Given the description of an element on the screen output the (x, y) to click on. 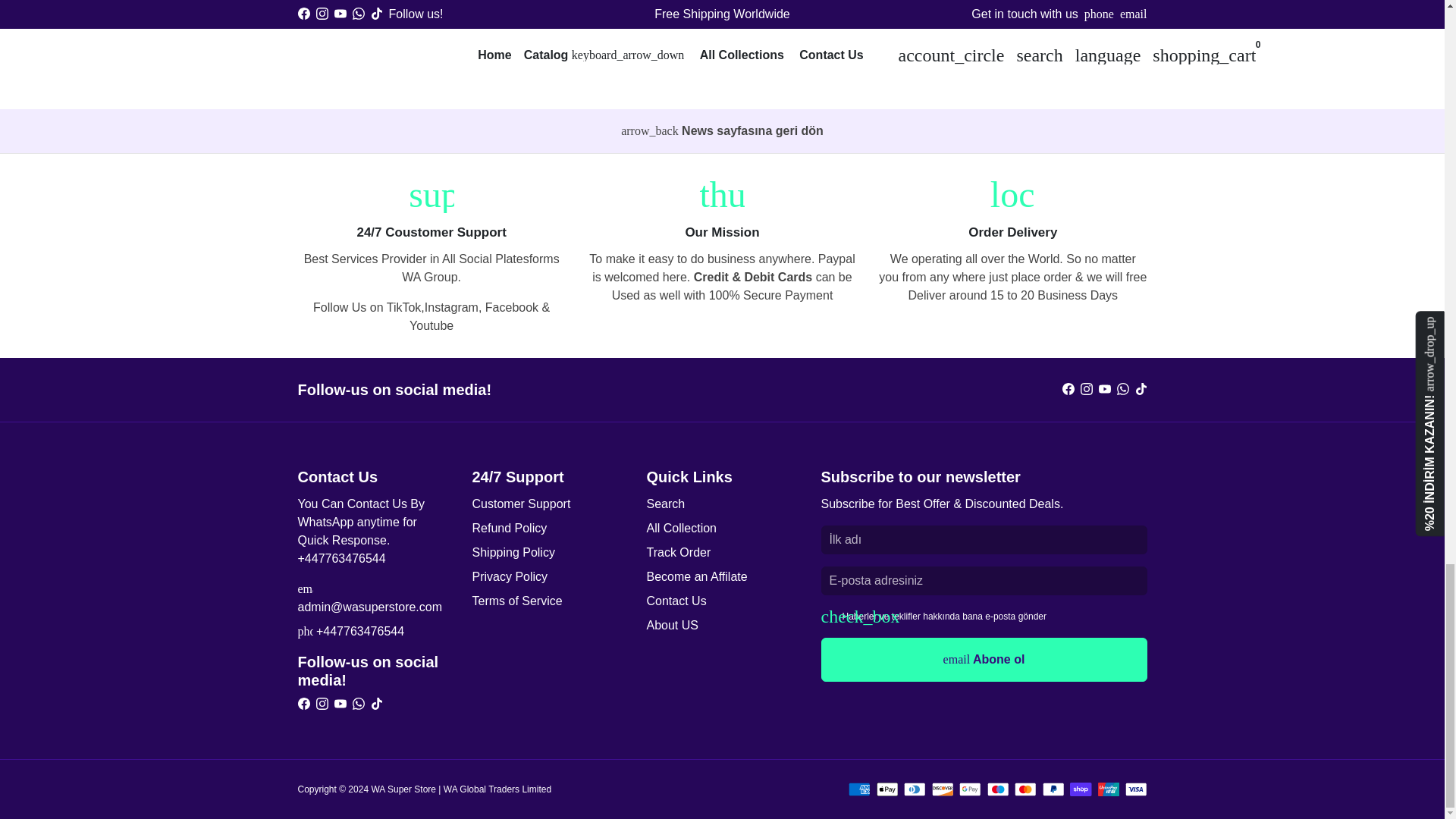
Google Pay (970, 789)
American Express (859, 789)
Diners Club (915, 789)
Discover (941, 789)
Apple Pay (887, 789)
